Given the description of an element on the screen output the (x, y) to click on. 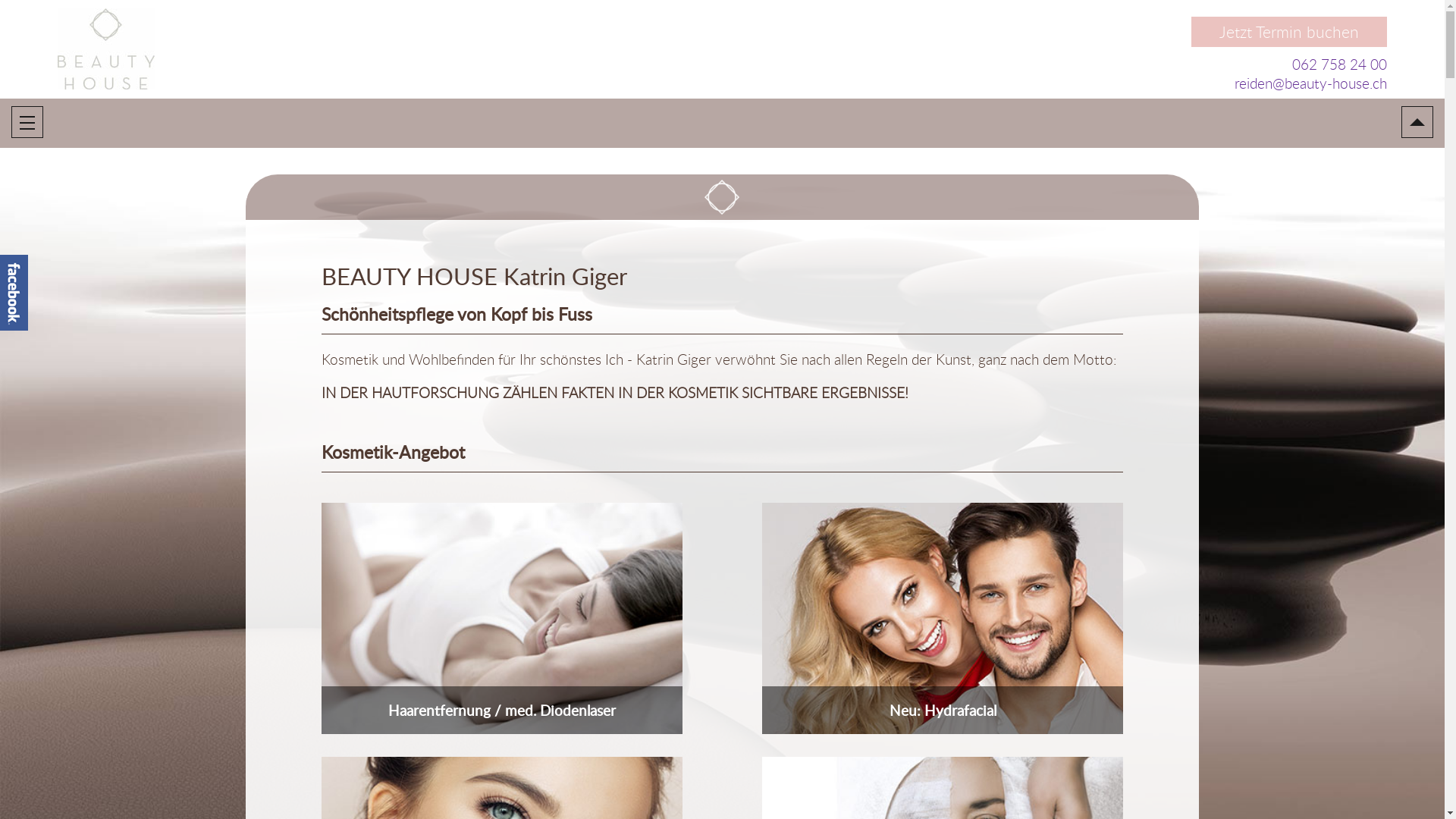
reiden@beauty-house.ch Element type: text (1310, 82)
Nach oben Element type: hover (1417, 122)
062 758 24 00 Element type: text (1339, 63)
Neu: Hydrafacial Element type: text (942, 618)
Haarentfernung / med. Diodenlaser Element type: text (501, 618)
Jetzt Termin buchen Element type: text (1288, 31)
